Given the description of an element on the screen output the (x, y) to click on. 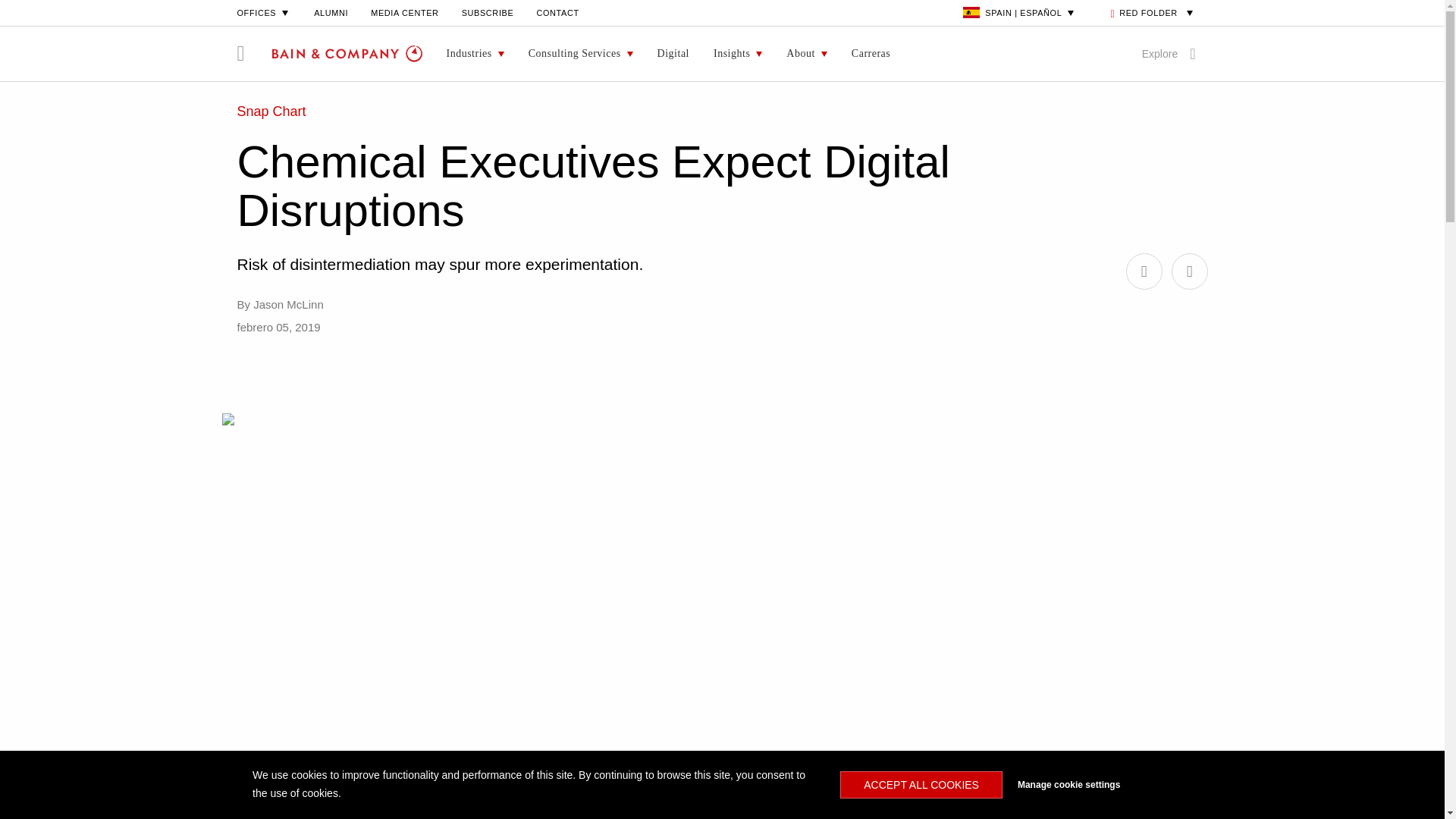
OFFICES (263, 12)
ACCEPT ALL COOKIES (921, 784)
Manage cookie settings (1101, 784)
